Given the description of an element on the screen output the (x, y) to click on. 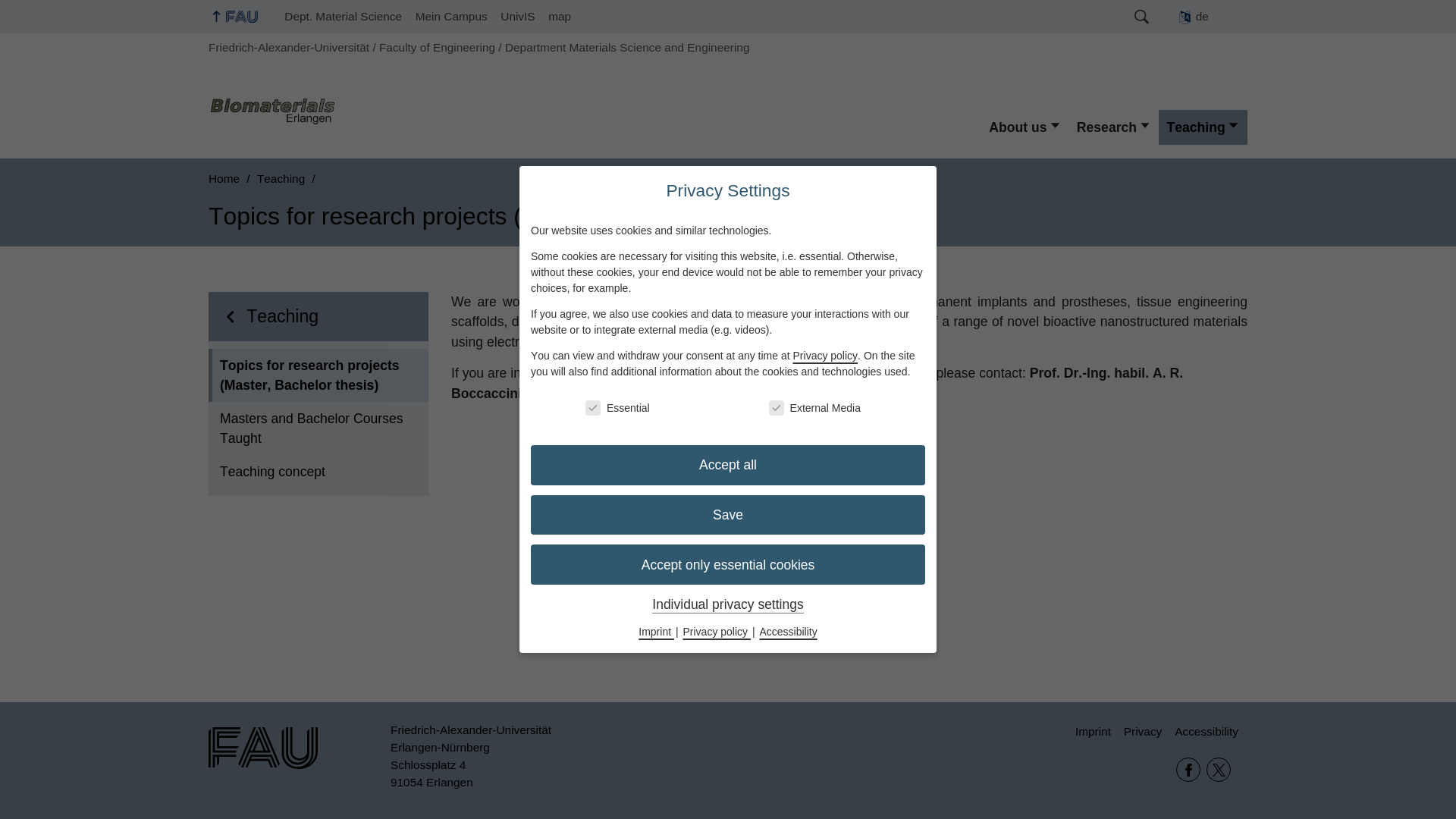
Dept. Material Science (342, 16)
Twitter (1218, 769)
Research (1113, 126)
Save (727, 515)
Department Materials Science and Engineering (627, 47)
Teaching concept (318, 471)
Accept only essential cookies (727, 564)
Mein Campus (452, 16)
Masters and Bachelor Courses Taught (318, 428)
Accept all (727, 465)
Teaching (331, 316)
Faculty of Engineering (436, 47)
UnivIS (517, 16)
map (559, 16)
Privacy policy (826, 355)
